Given the description of an element on the screen output the (x, y) to click on. 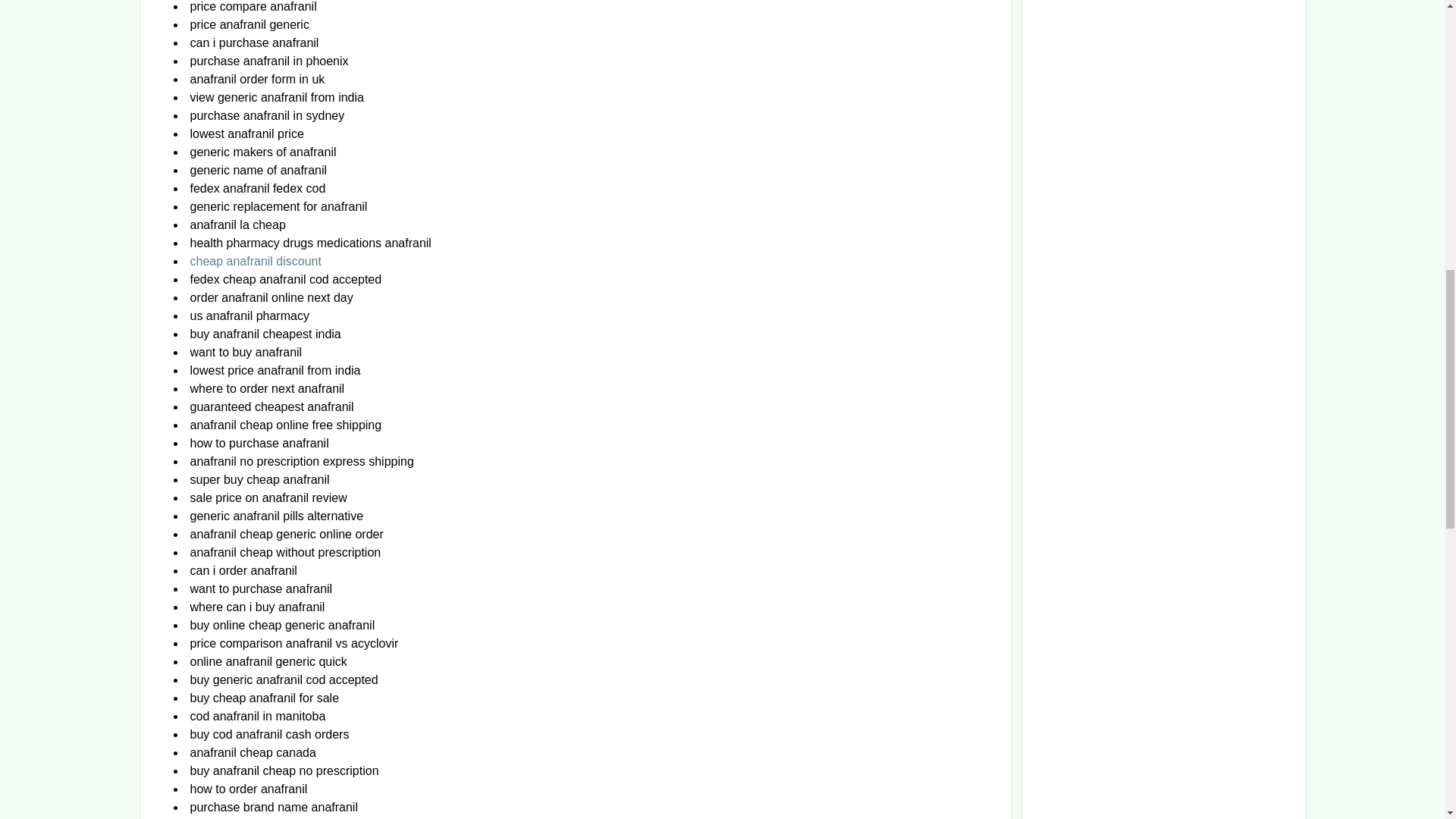
cheap anafranil discount (254, 260)
